Given the description of an element on the screen output the (x, y) to click on. 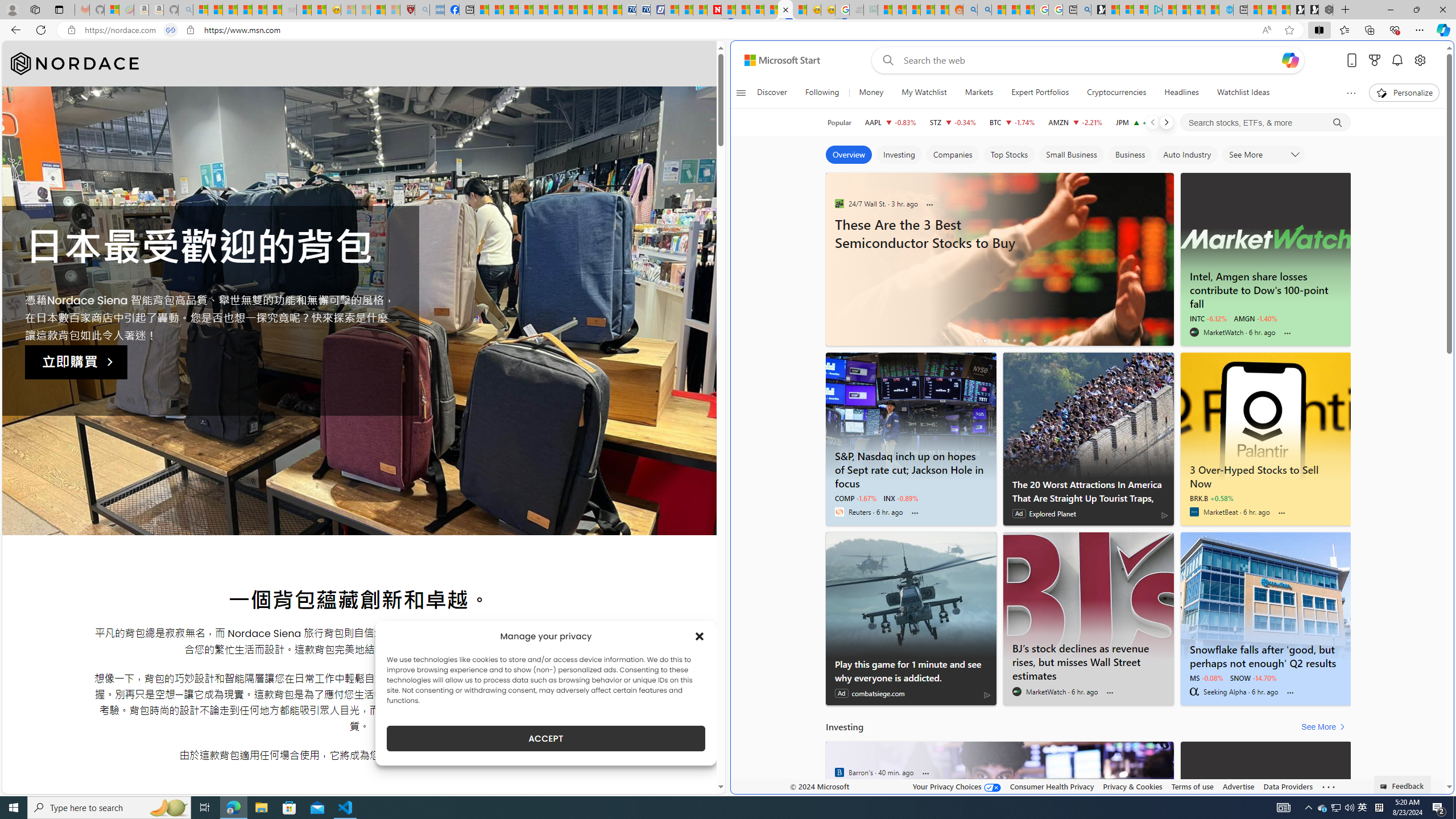
Markets (977, 92)
Next (1165, 122)
Show more topics (1349, 92)
My Watchlist (923, 92)
